Given the description of an element on the screen output the (x, y) to click on. 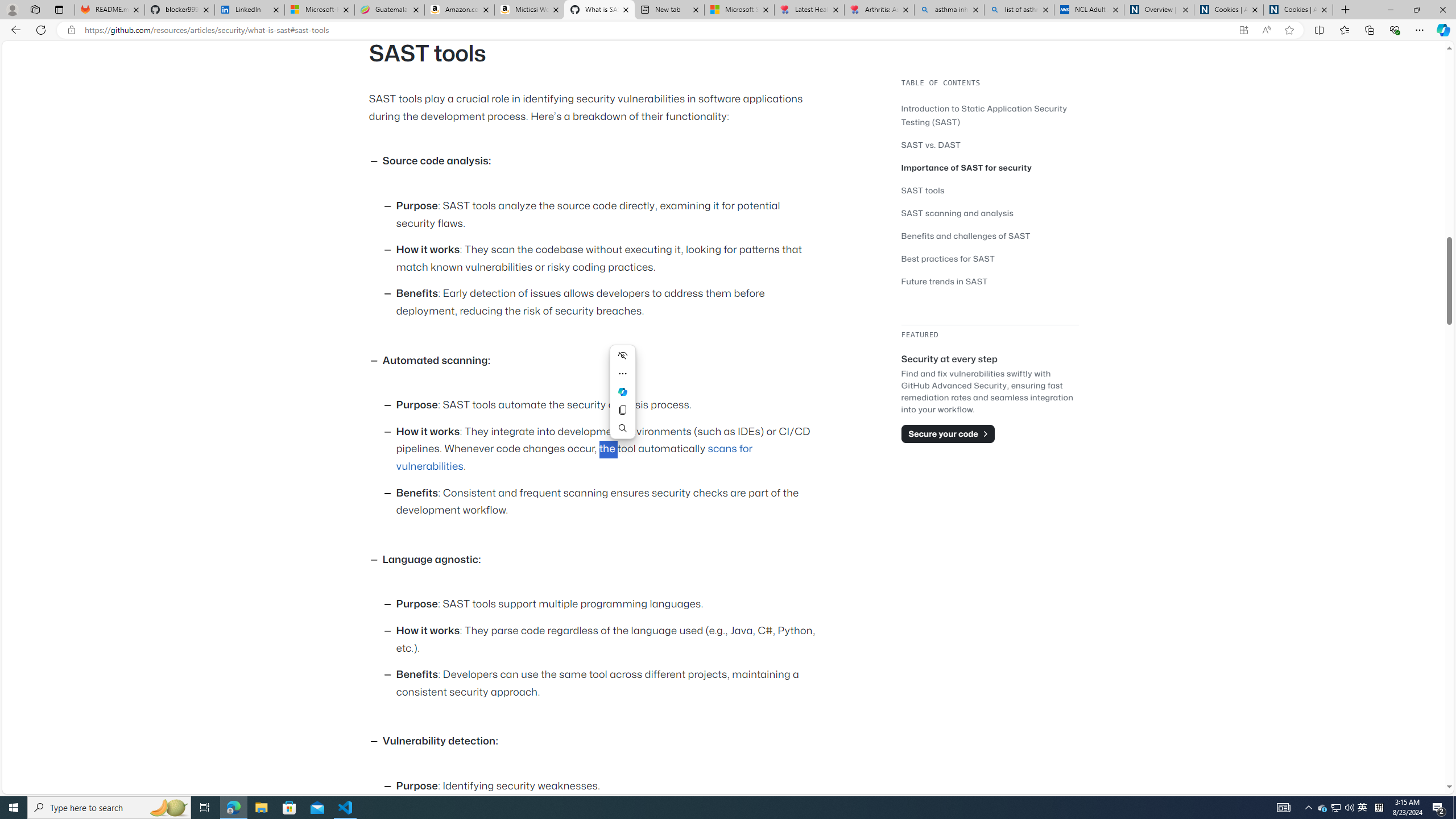
LinkedIn (249, 9)
list of asthma inhalers uk - Search (1018, 9)
Future trends in SAST (944, 280)
